Given the description of an element on the screen output the (x, y) to click on. 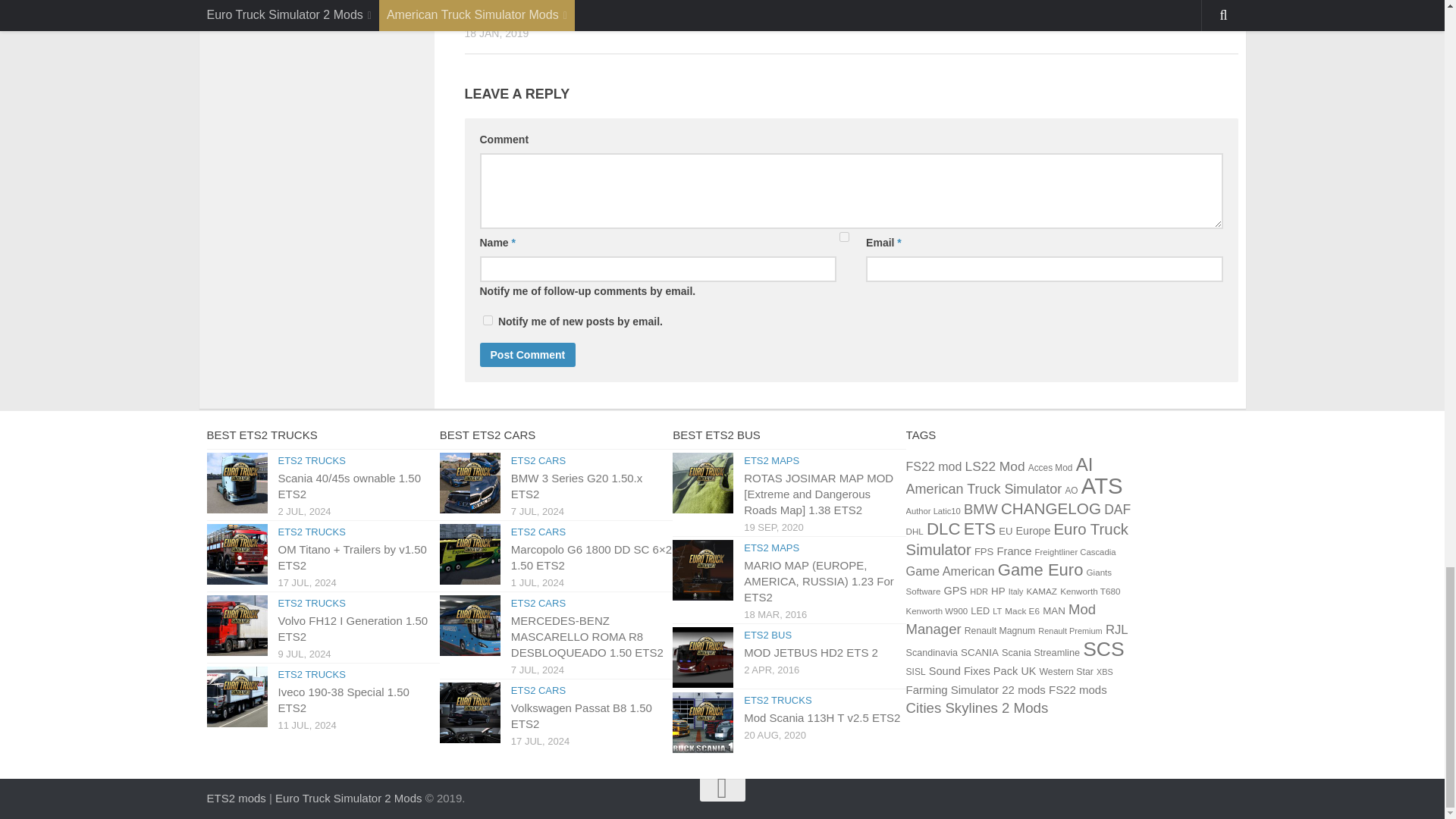
EUROFRESH MAP 1.33.X MAP MOD FOR ETS2 (573, 7)
subscribe (844, 236)
subscribe (486, 320)
Post Comment (527, 354)
